Given the description of an element on the screen output the (x, y) to click on. 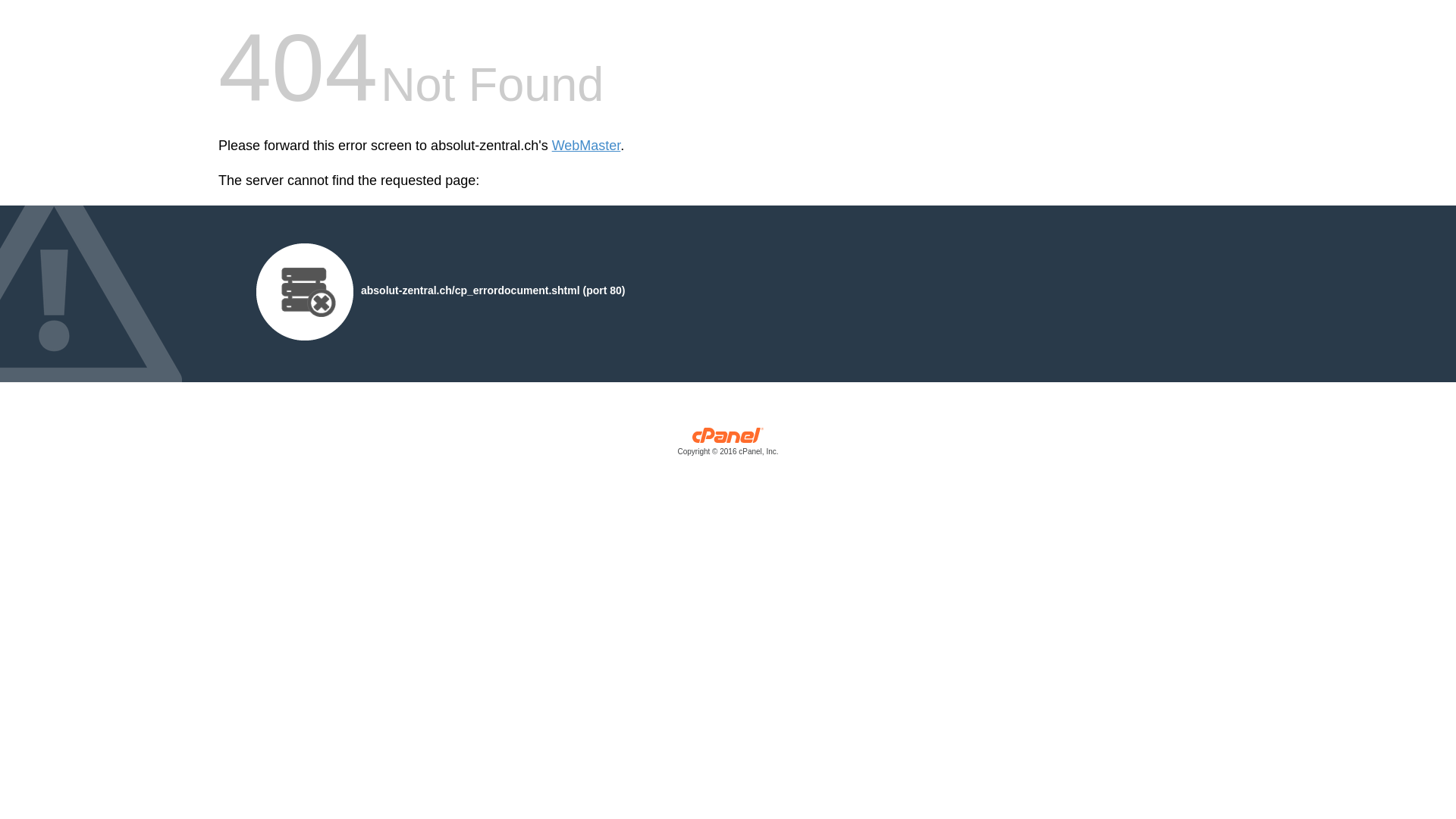
WebMaster Element type: text (586, 145)
